Given the description of an element on the screen output the (x, y) to click on. 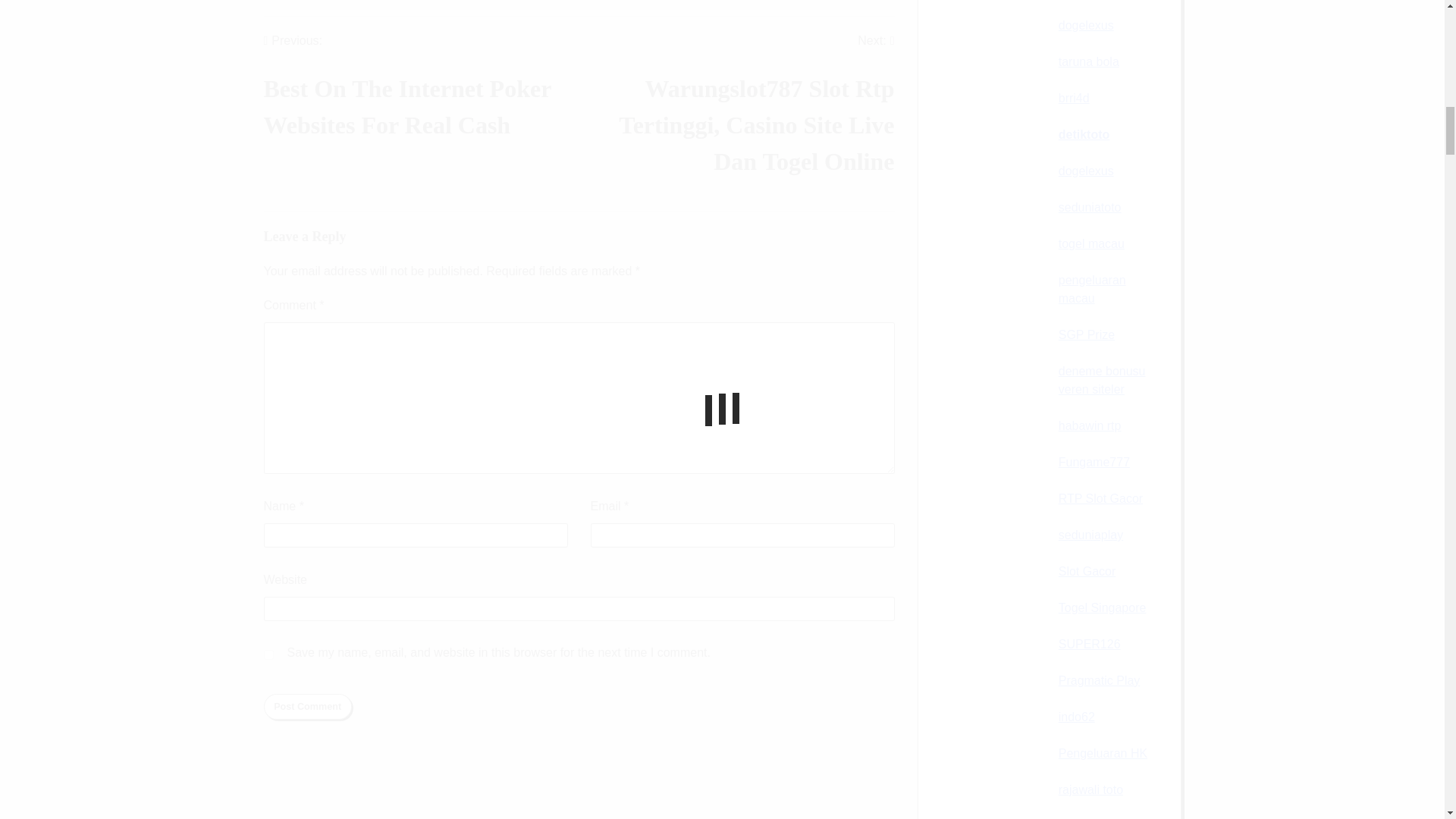
Post Comment (307, 706)
yes (268, 655)
Post Comment (421, 94)
